Given the description of an element on the screen output the (x, y) to click on. 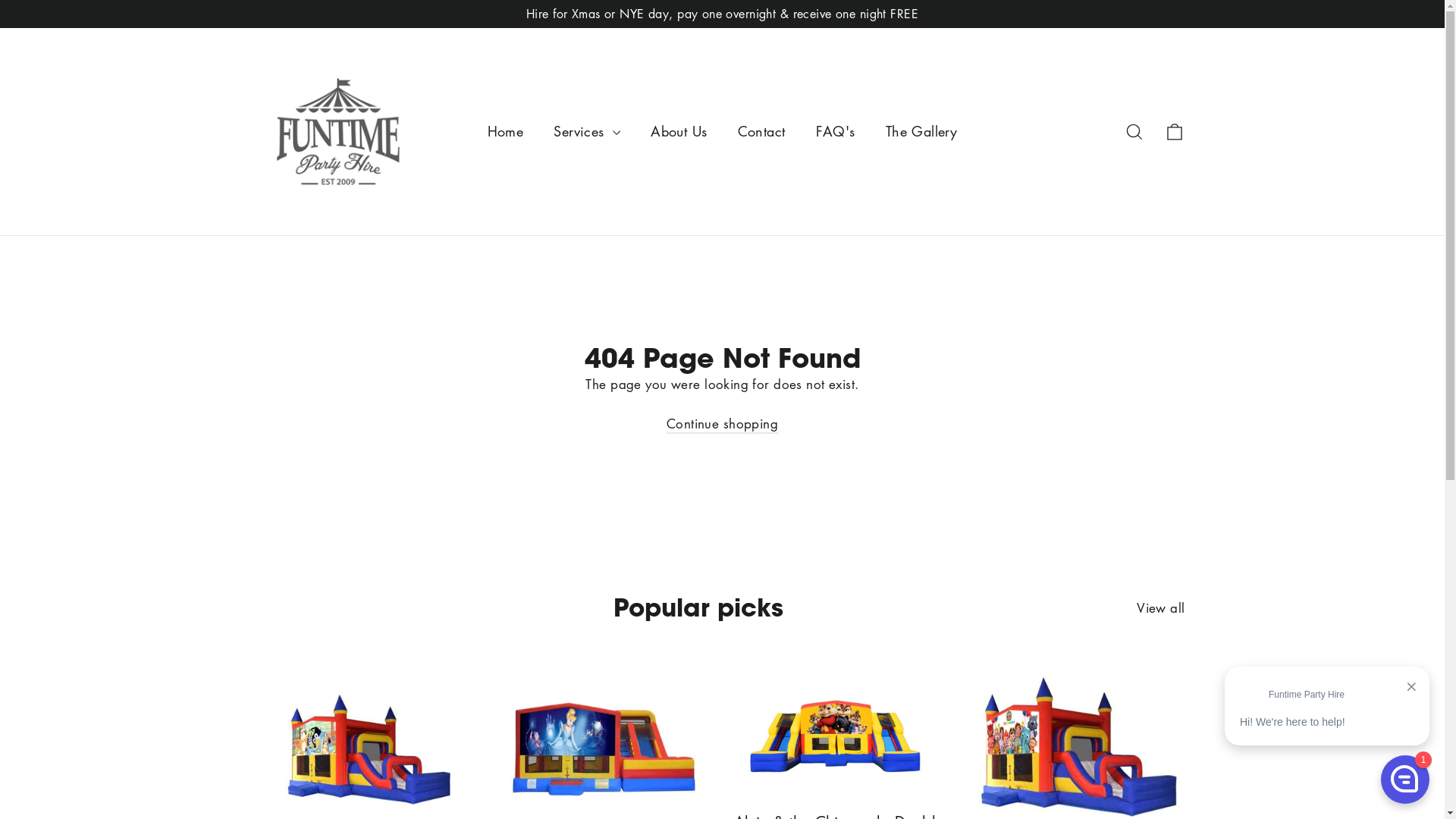
Search Element type: text (1134, 131)
Contact Element type: text (761, 131)
About Us Element type: text (678, 131)
The Gallery Element type: text (921, 131)
Continue shopping Element type: text (722, 423)
Services Element type: text (586, 131)
Cart Element type: text (1173, 131)
FAQ's Element type: text (835, 131)
View all Element type: text (1160, 605)
Home Element type: text (505, 131)
Skip to content Element type: text (0, 0)
Front Chat Element type: hover (1326, 737)
